Given the description of an element on the screen output the (x, y) to click on. 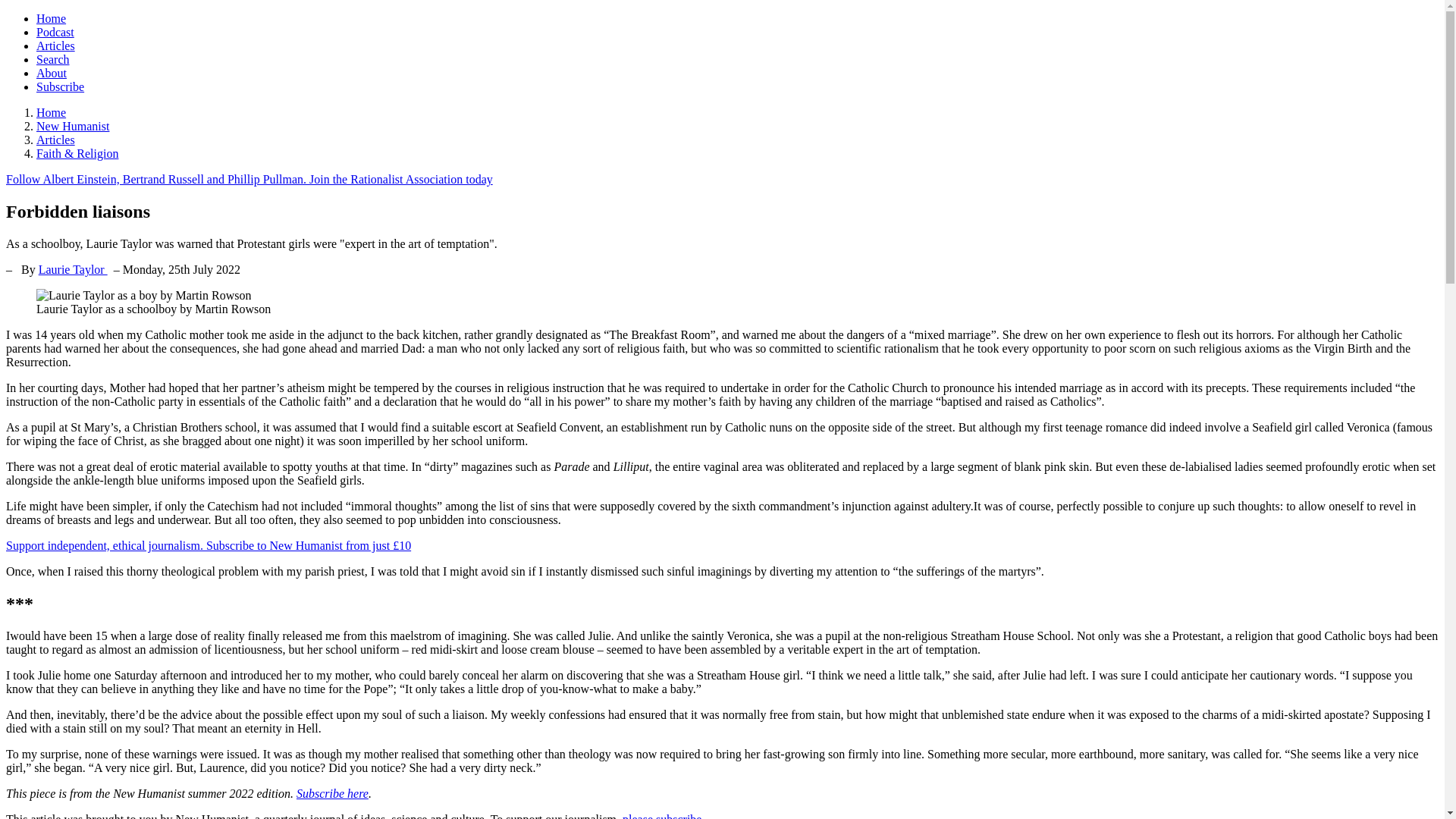
Subscribe (60, 86)
About (51, 72)
Search (52, 59)
please subscribe (662, 816)
Home (50, 18)
Subscribe here (332, 793)
Home (50, 112)
Laurie Taylor as a schoolboy by Martin Rowson (143, 295)
Laurie Taylor (73, 269)
New Humanist (72, 125)
Articles (55, 139)
Podcast (55, 31)
Articles (55, 45)
